Given the description of an element on the screen output the (x, y) to click on. 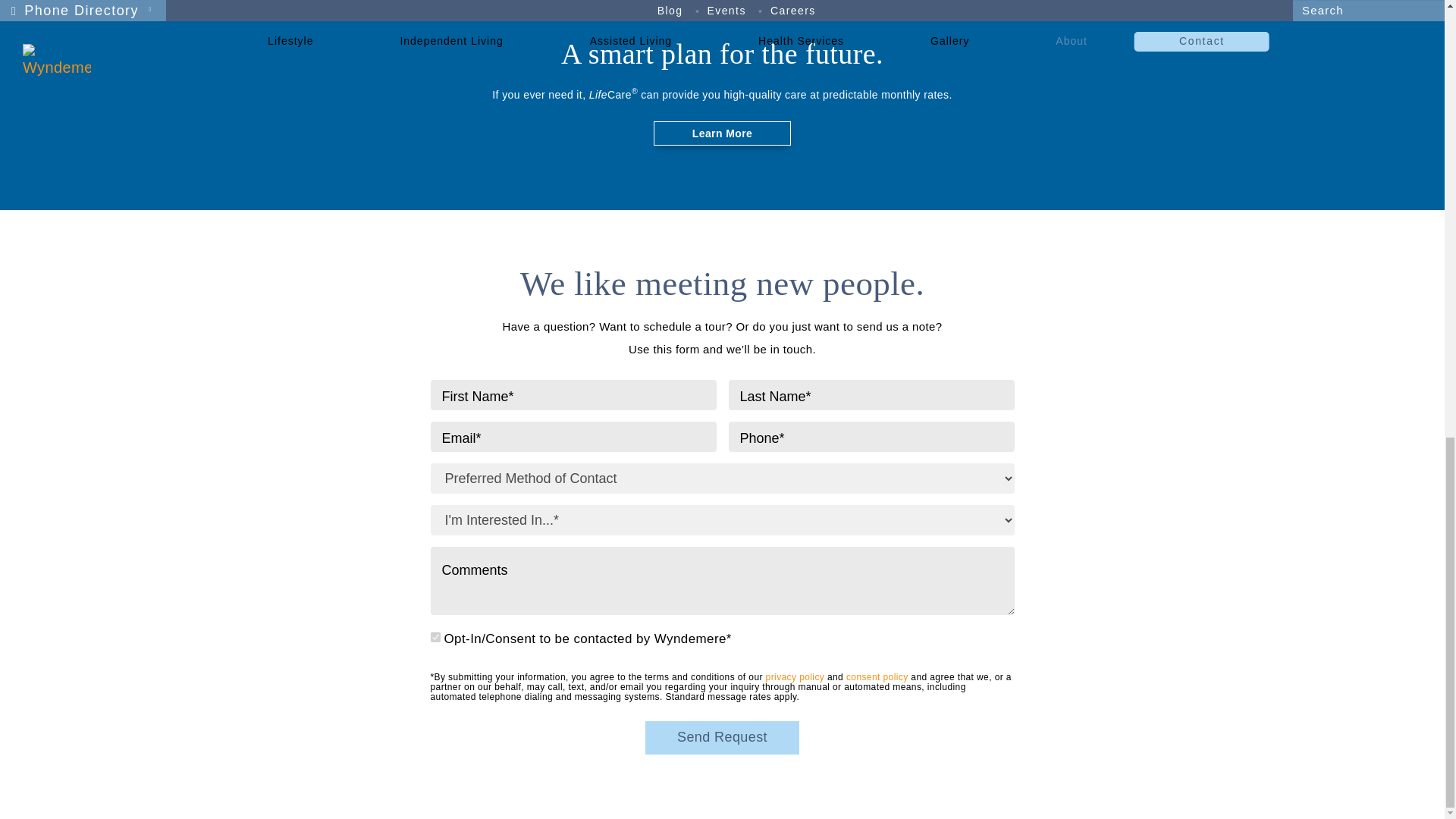
true (435, 637)
Send Request (722, 737)
